Given the description of an element on the screen output the (x, y) to click on. 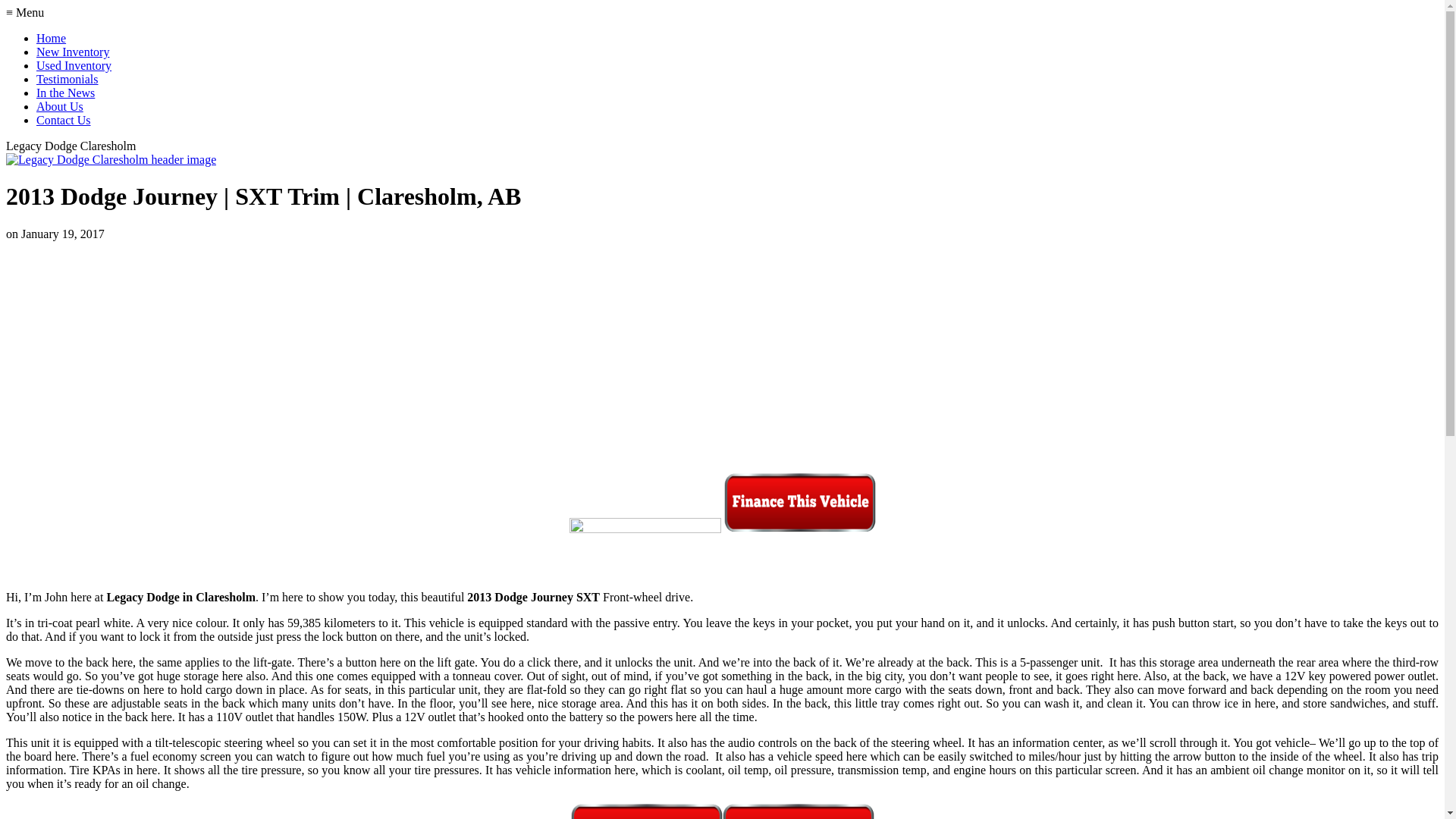
In the News Element type: text (65, 92)
About Us Element type: text (59, 106)
Used Inventory Element type: text (73, 65)
Home Element type: text (50, 37)
Contact Us Element type: text (63, 119)
Testimonials Element type: text (67, 78)
New Inventory Element type: text (72, 51)
